Given the description of an element on the screen output the (x, y) to click on. 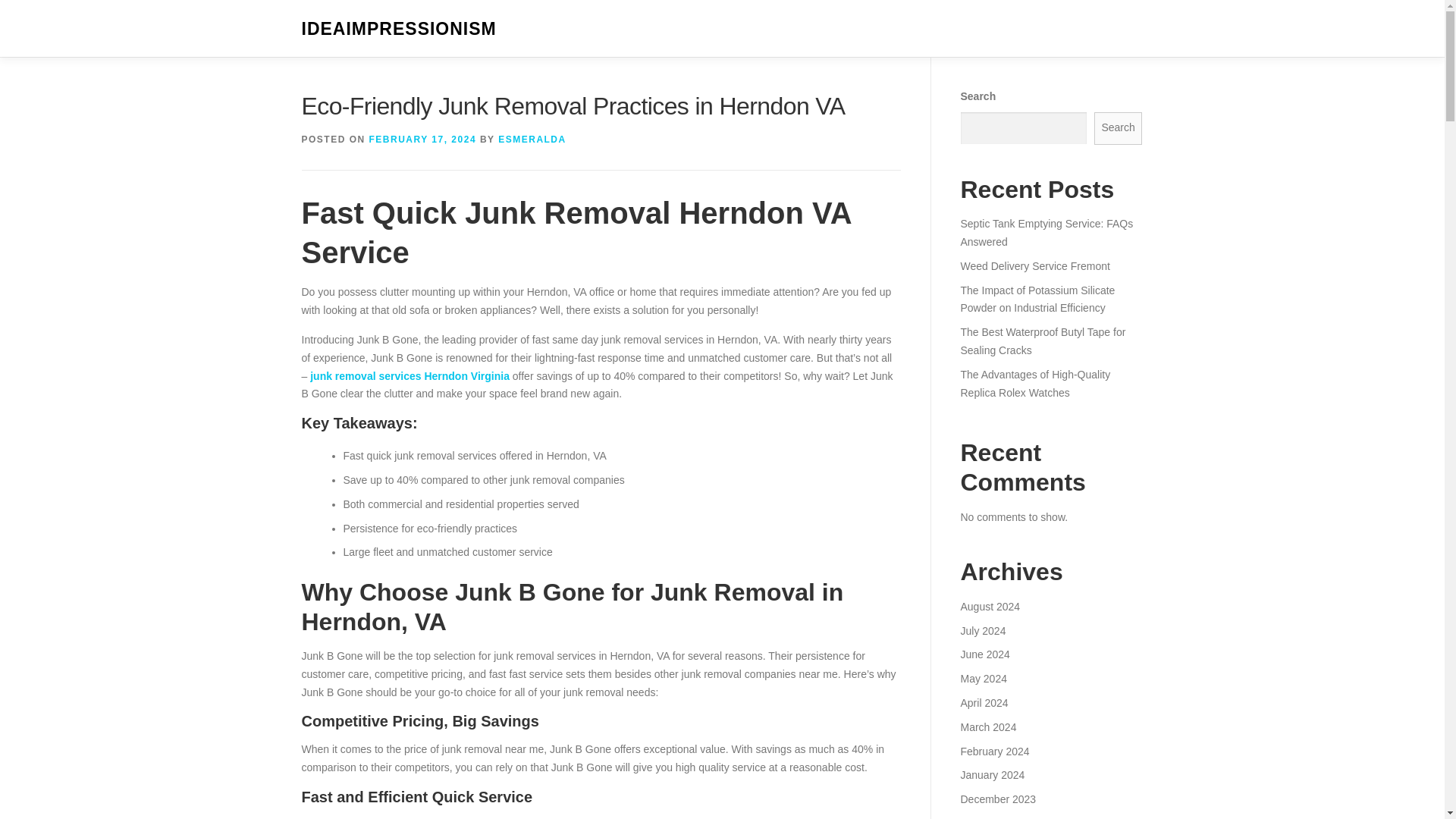
January 2024 (992, 775)
May 2024 (982, 678)
The Advantages of High-Quality Replica Rolex Watches (1034, 383)
March 2024 (987, 727)
April 2024 (983, 702)
The Best Waterproof Butyl Tape for Sealing Cracks (1042, 340)
IDEAIMPRESSIONISM (398, 29)
December 2023 (997, 799)
ESMERALDA (531, 139)
February 2024 (994, 750)
